Given the description of an element on the screen output the (x, y) to click on. 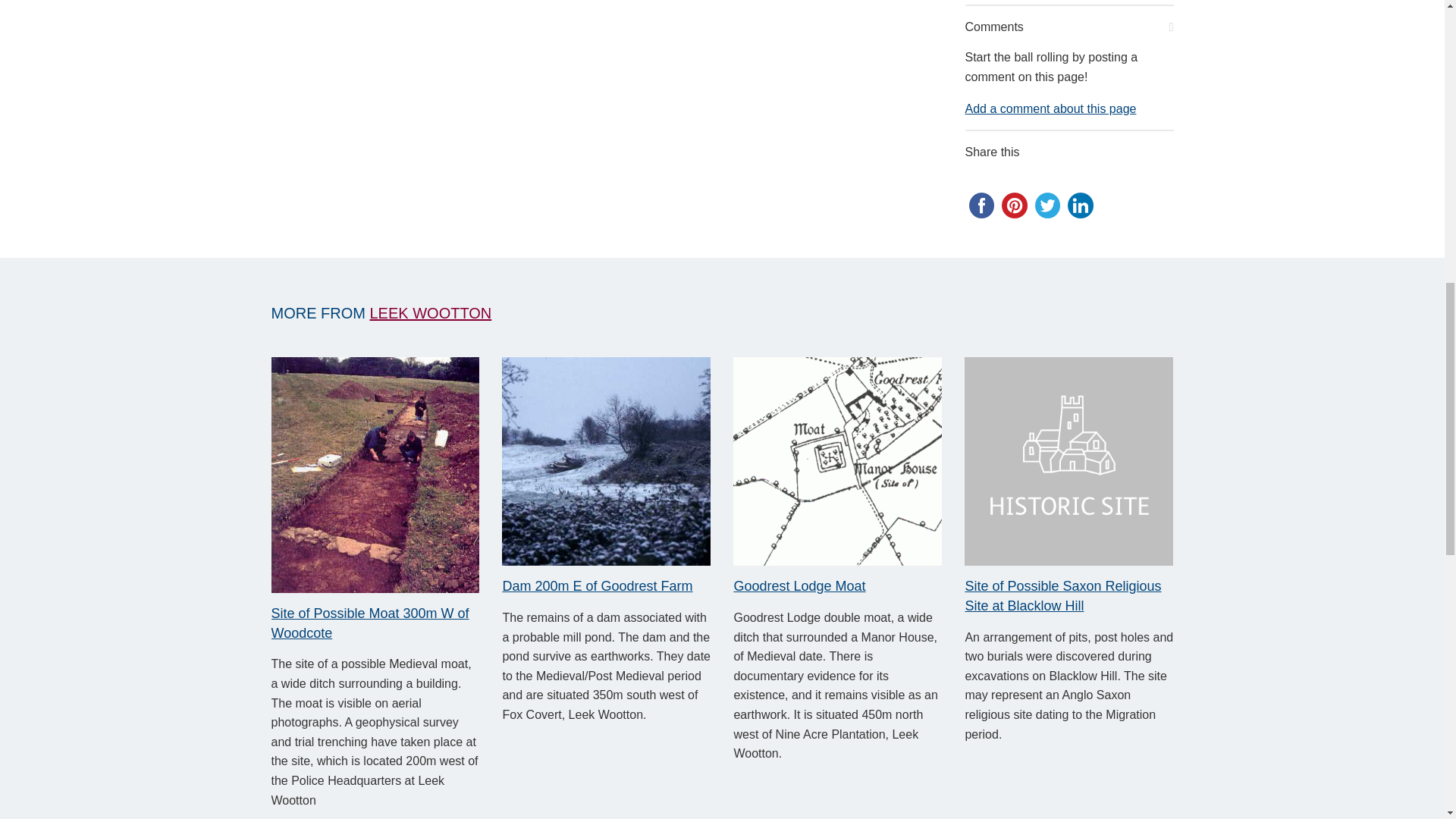
Pinterest (1014, 205)
LinkedIn (1080, 205)
Twitter (1046, 205)
Facebook (981, 205)
Add a comment about this page (1049, 108)
